Given the description of an element on the screen output the (x, y) to click on. 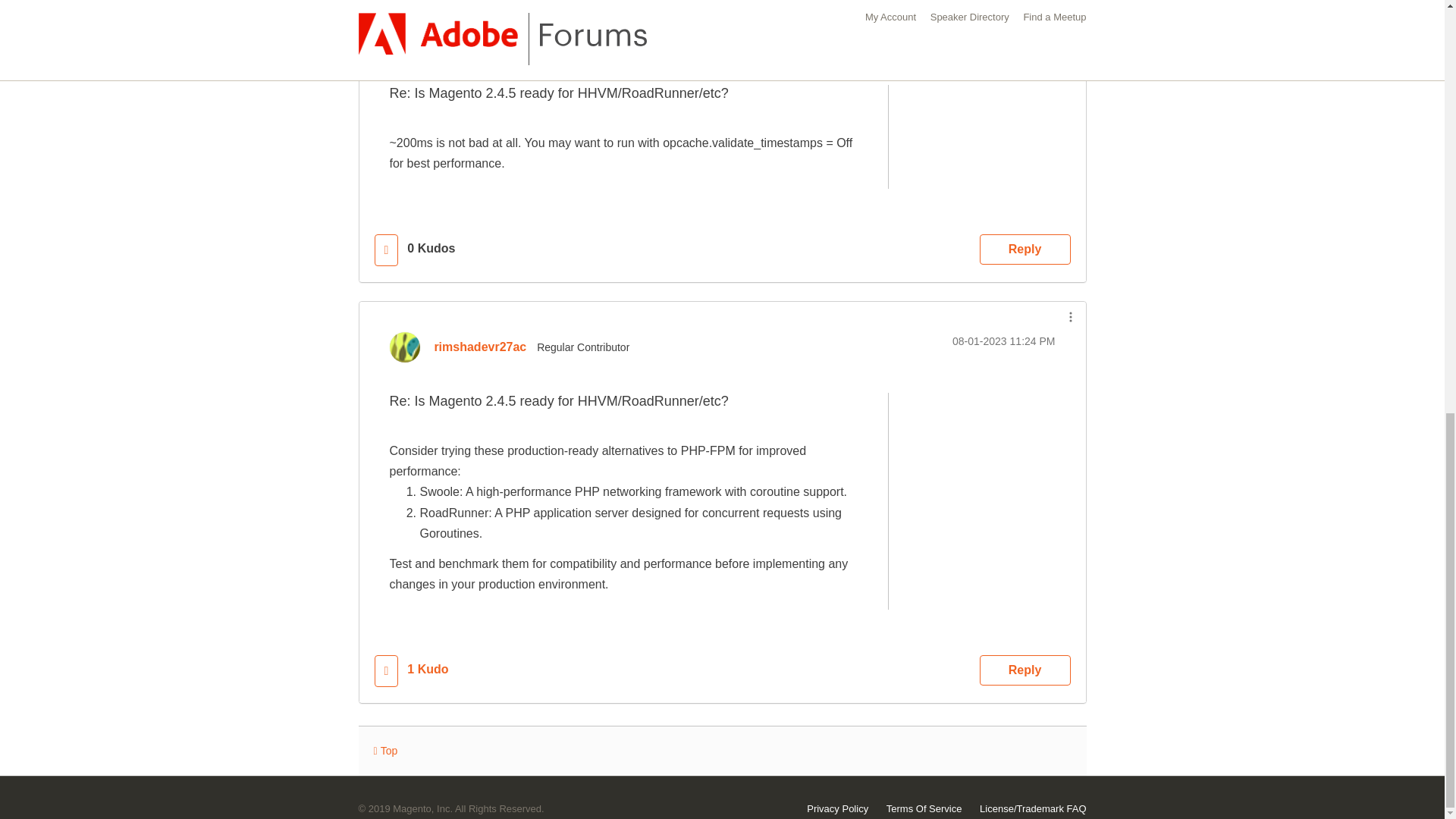
Top (385, 750)
Top (385, 750)
infogetpage875 (474, 38)
